Given the description of an element on the screen output the (x, y) to click on. 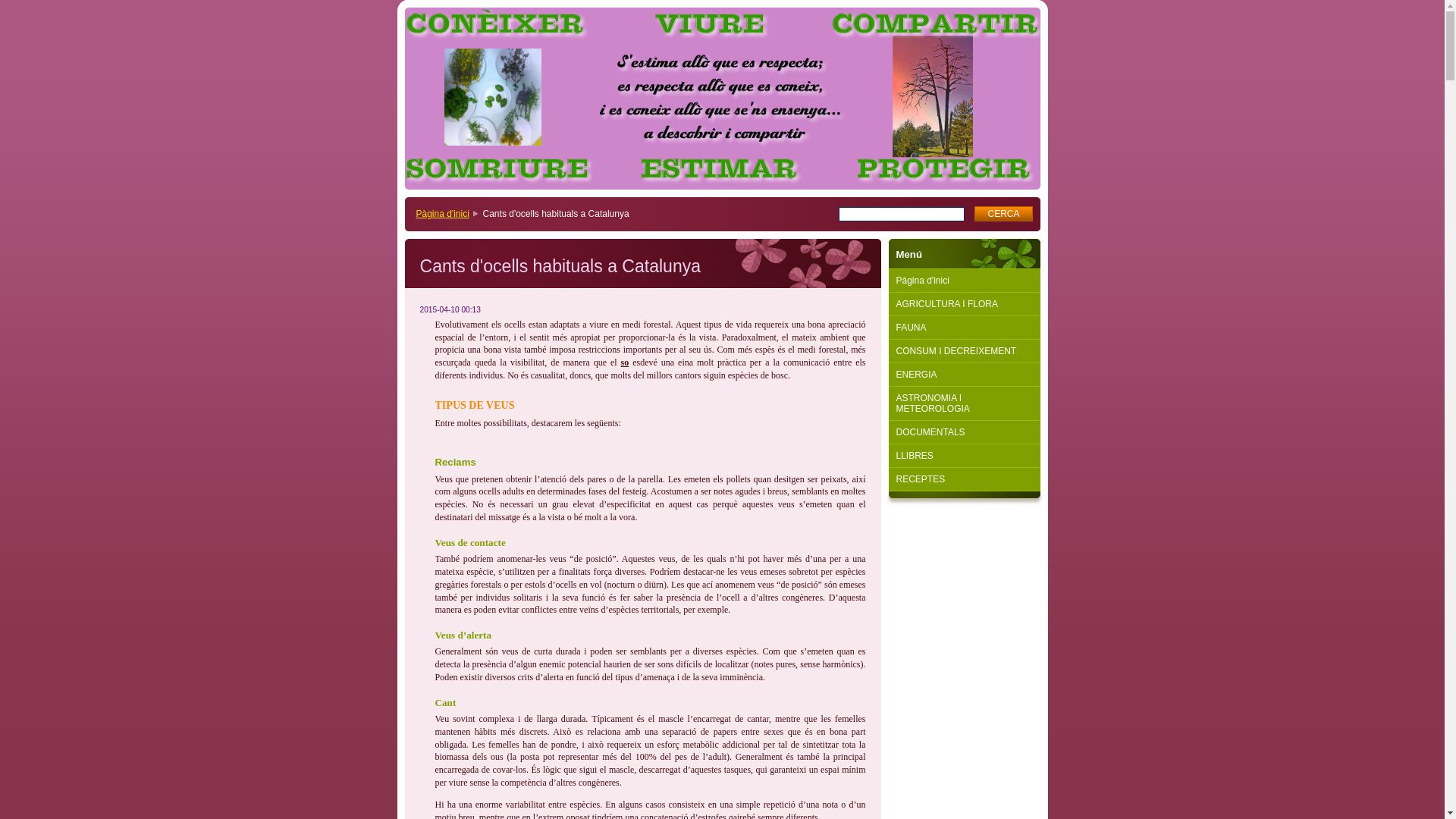
LLIBRES Element type: text (964, 455)
Cerca Element type: text (1003, 213)
RECEPTES Element type: text (964, 479)
ENERGIA Element type: text (964, 374)
CONSUM I DECREIXEMENT Element type: text (964, 351)
FAUNA Element type: text (964, 327)
DOCUMENTALS Element type: text (964, 432)
ASTRONOMIA I METEOROLOGIA Element type: text (964, 403)
AGRICULTURA I FLORA Element type: text (964, 304)
